Given the description of an element on the screen output the (x, y) to click on. 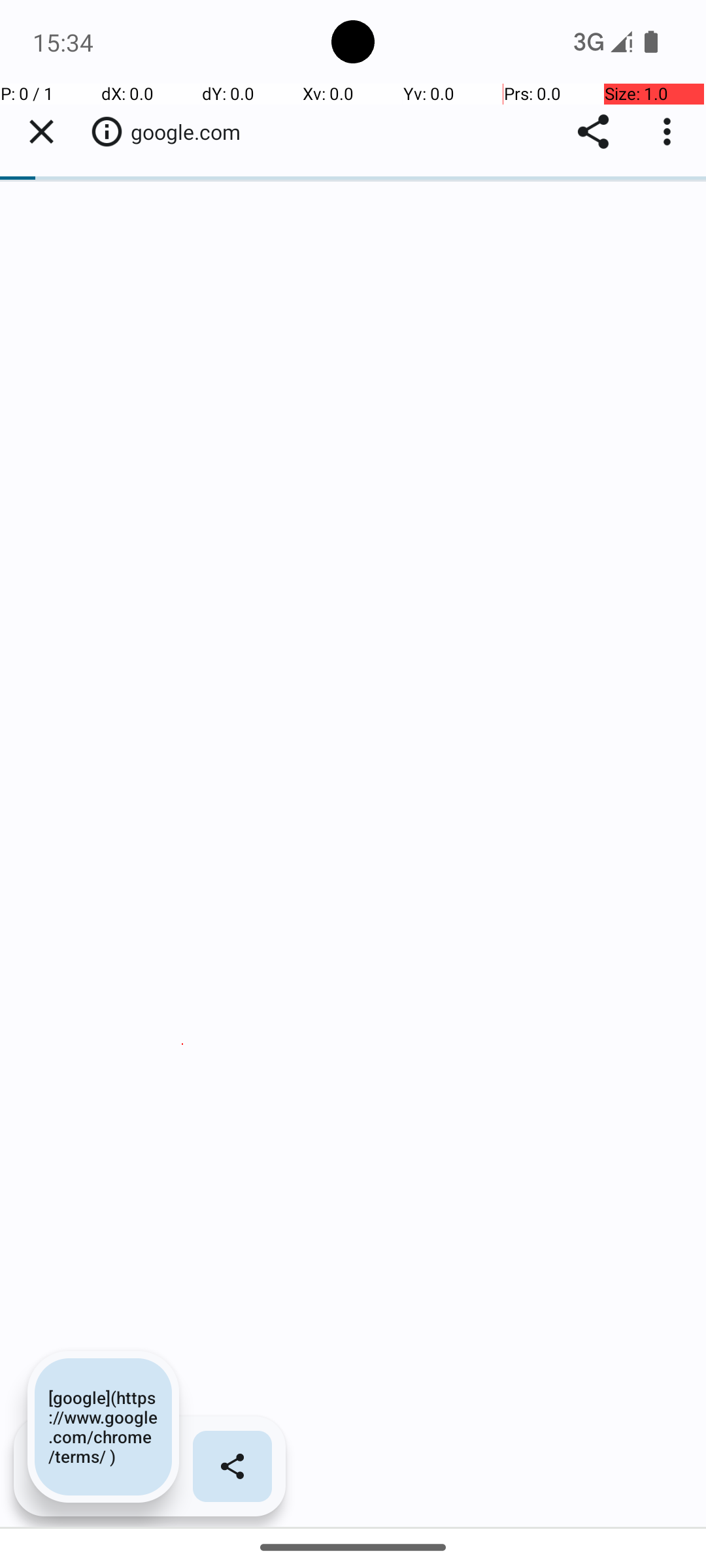
Web View Element type: android.widget.FrameLayout (353, 804)
Close tab Element type: android.widget.ImageButton (41, 131)
Your connection to this site is not secure Element type: android.widget.ImageButton (106, 131)
Share Element type: android.widget.ImageButton (593, 131)
More options Element type: android.widget.ImageButton (670, 131)
google.com Element type: android.widget.TextView (192, 131)
Clipboard Element type: android.view.ViewGroup (353, 846)
[google](https://www.google.com/chrome/terms/ ) Element type: android.widget.TextView (102, 1426)
